Given the description of an element on the screen output the (x, y) to click on. 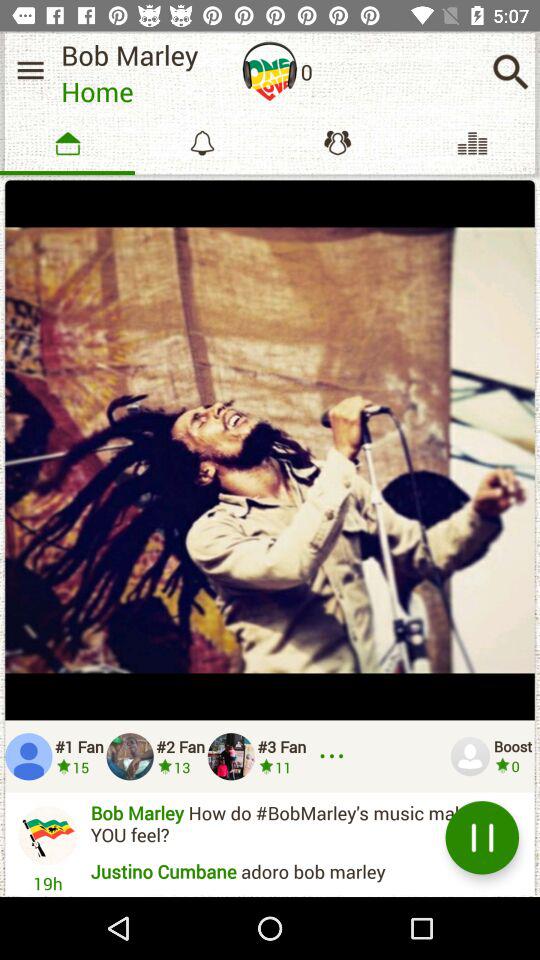
explore more fans (335, 756)
